Given the description of an element on the screen output the (x, y) to click on. 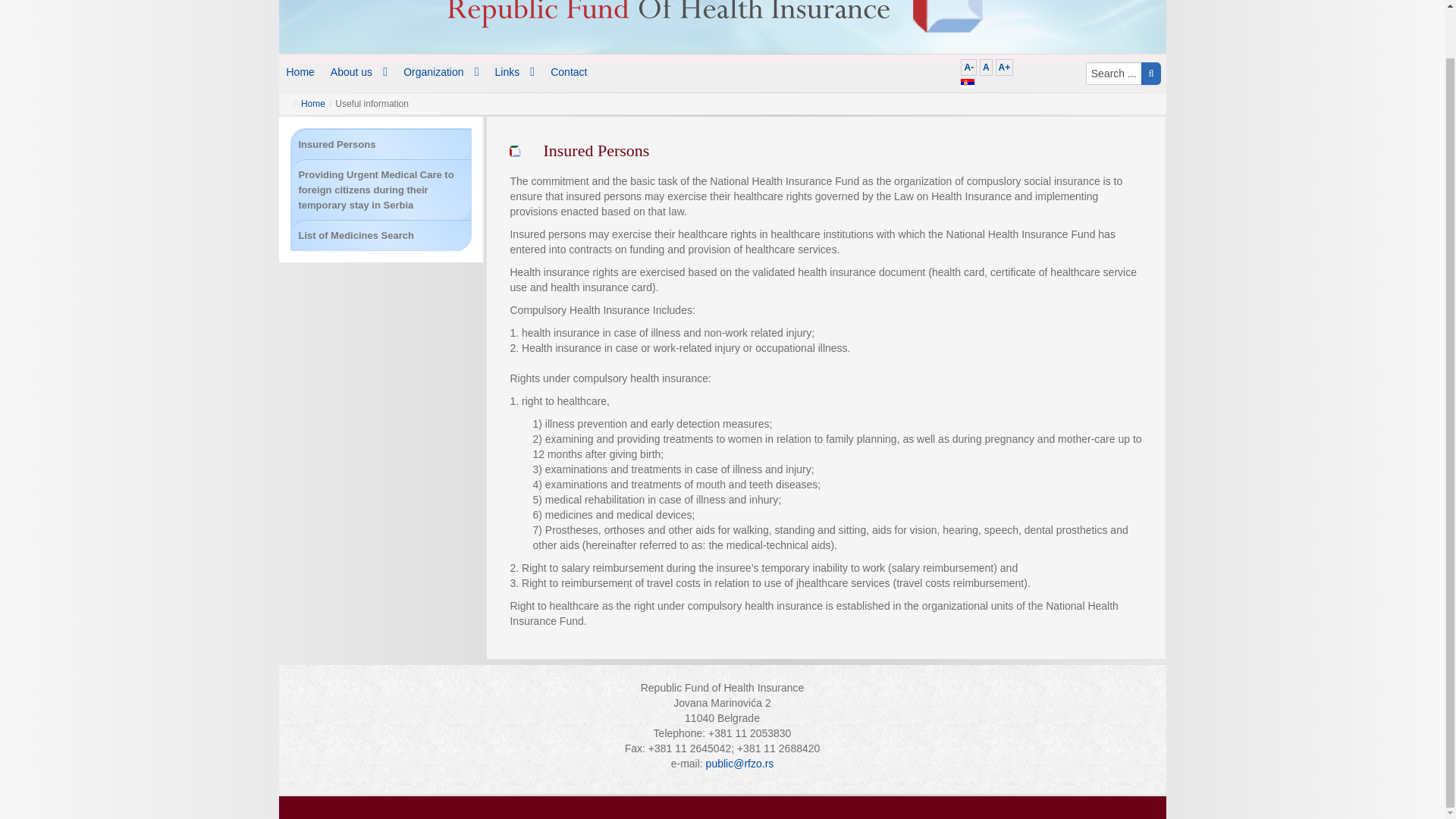
About us (359, 58)
Organization (441, 68)
A- (968, 67)
Search ... (1113, 73)
Contact (569, 71)
Insured Persons (337, 143)
Home (301, 57)
Home (312, 103)
Links (515, 71)
